Given the description of an element on the screen output the (x, y) to click on. 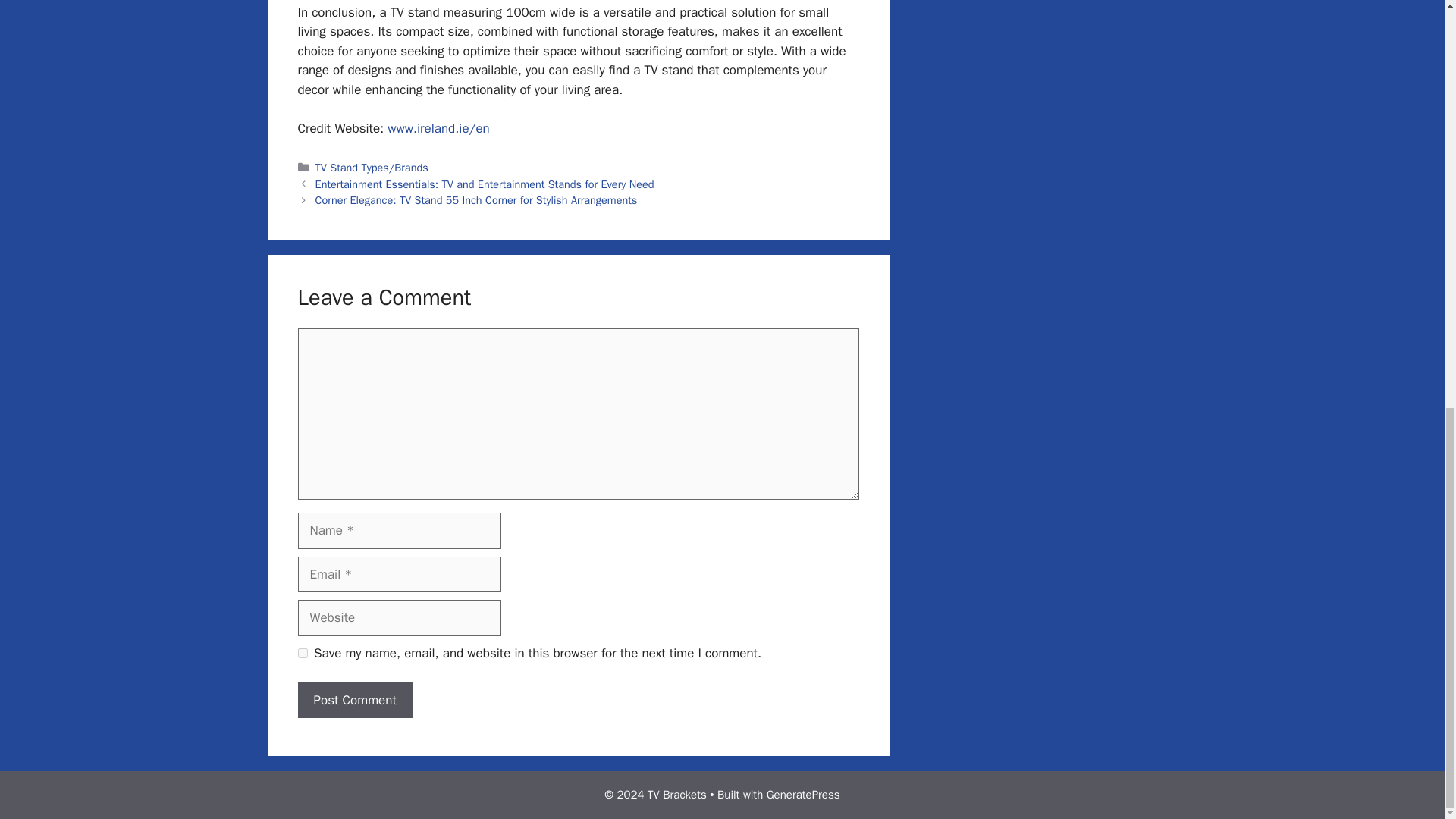
Post Comment (354, 700)
GeneratePress (803, 794)
yes (302, 653)
Post Comment (354, 700)
